Given the description of an element on the screen output the (x, y) to click on. 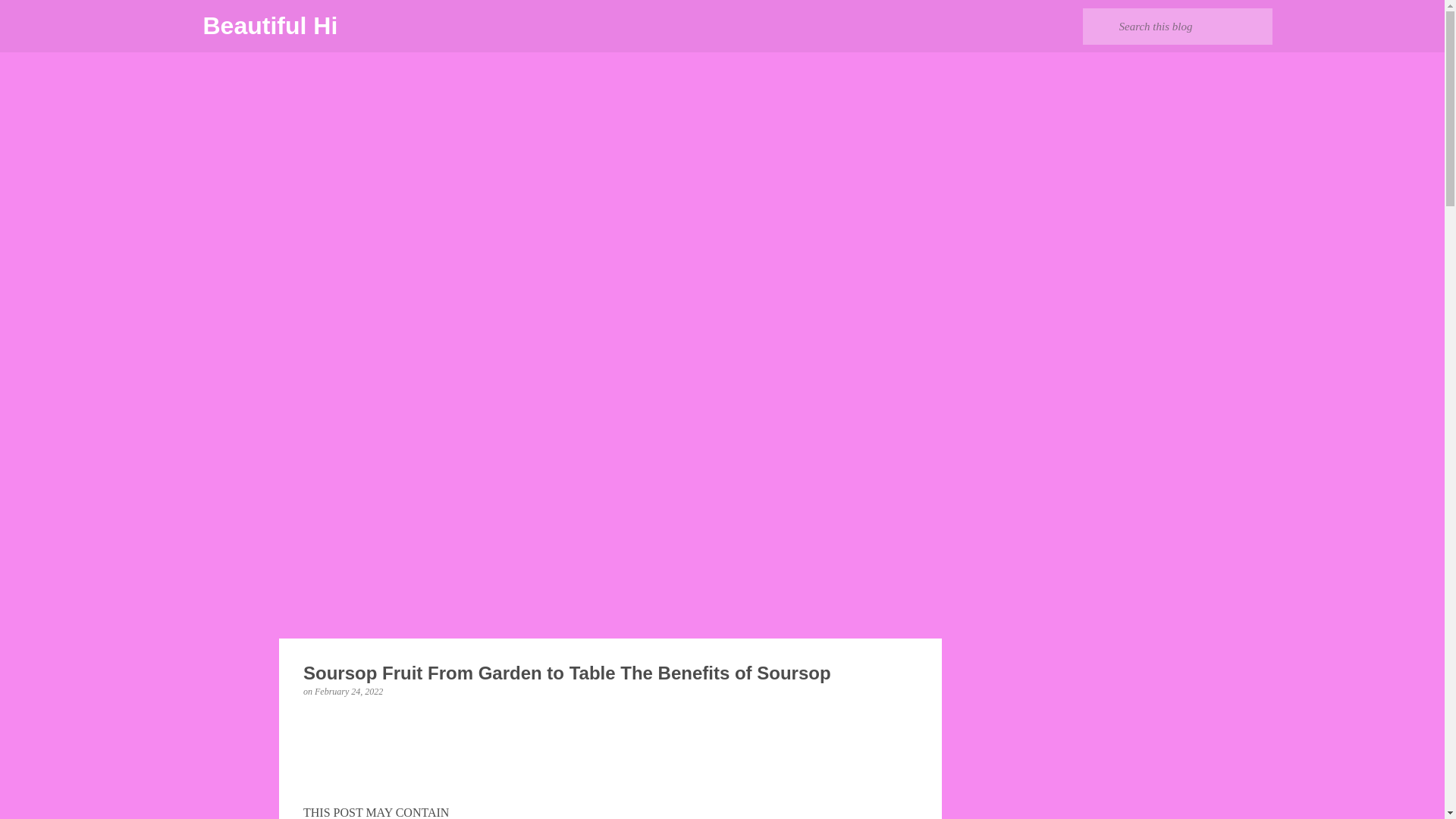
Beautiful Hi (270, 25)
February 24, 2022 (348, 691)
permanent link (348, 691)
